Given the description of an element on the screen output the (x, y) to click on. 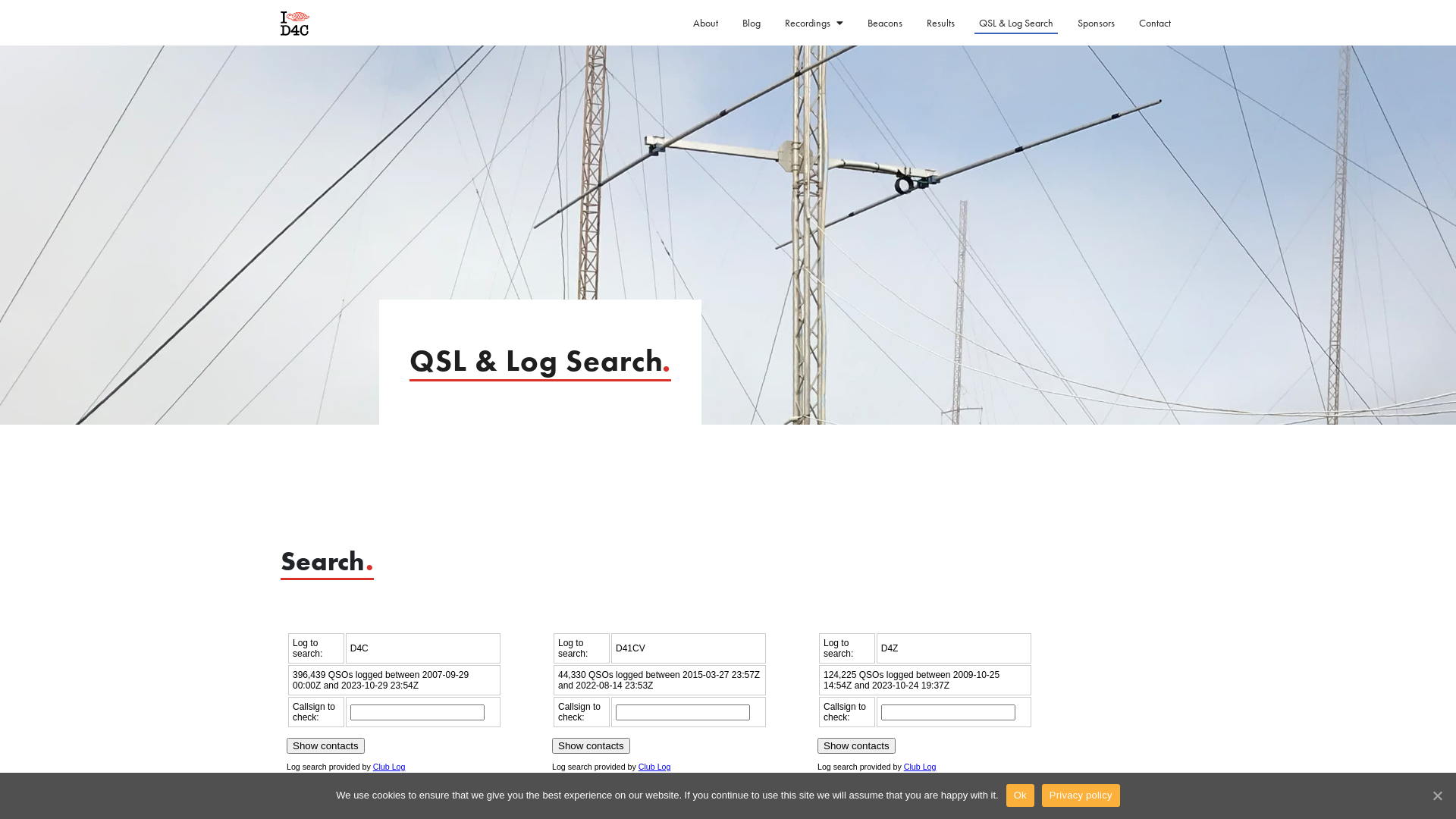
Blog Element type: text (751, 24)
Beacons Element type: text (884, 24)
Sponsors Element type: text (1096, 24)
QSL & Log Search Element type: text (1015, 24)
Privacy policy Element type: text (1080, 795)
Contact Element type: text (1154, 24)
Results Element type: text (940, 24)
About Element type: text (705, 24)
Ok Element type: text (1020, 795)
